Given the description of an element on the screen output the (x, y) to click on. 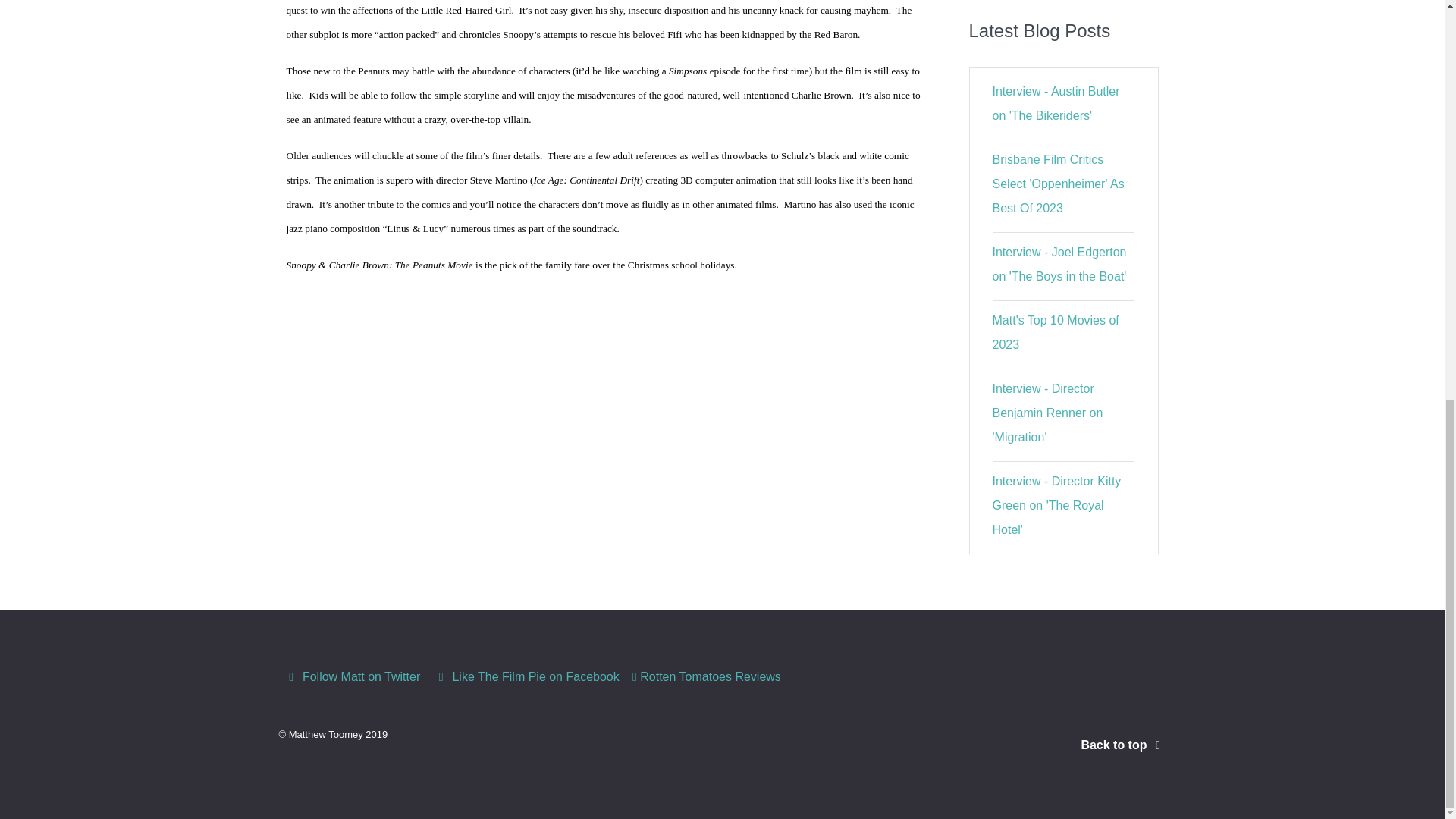
Matt's Top 10 Movies of 2023 (1055, 332)
Follow Matt on Twitter (354, 676)
Interview - Director Kitty Green on 'The Royal Hotel' (1056, 505)
Rotten Tomatoes Reviews (706, 676)
Like The Film Pie on Facebook (527, 676)
Brisbane Film Critics Select 'Oppenheimer' As Best Of 2023 (1058, 183)
Rotten Tomatoes Reviews (706, 676)
Follow Matt on Twitter (354, 676)
Back to top (1123, 744)
Like The Film Pie on Facebook (527, 676)
Interview - Joel Edgerton on 'The Boys in the Boat' (1059, 263)
Interview - Director Benjamin Renner on 'Migration' (1047, 412)
Interview - Austin Butler on 'The Bikeriders' (1055, 103)
